Given the description of an element on the screen output the (x, y) to click on. 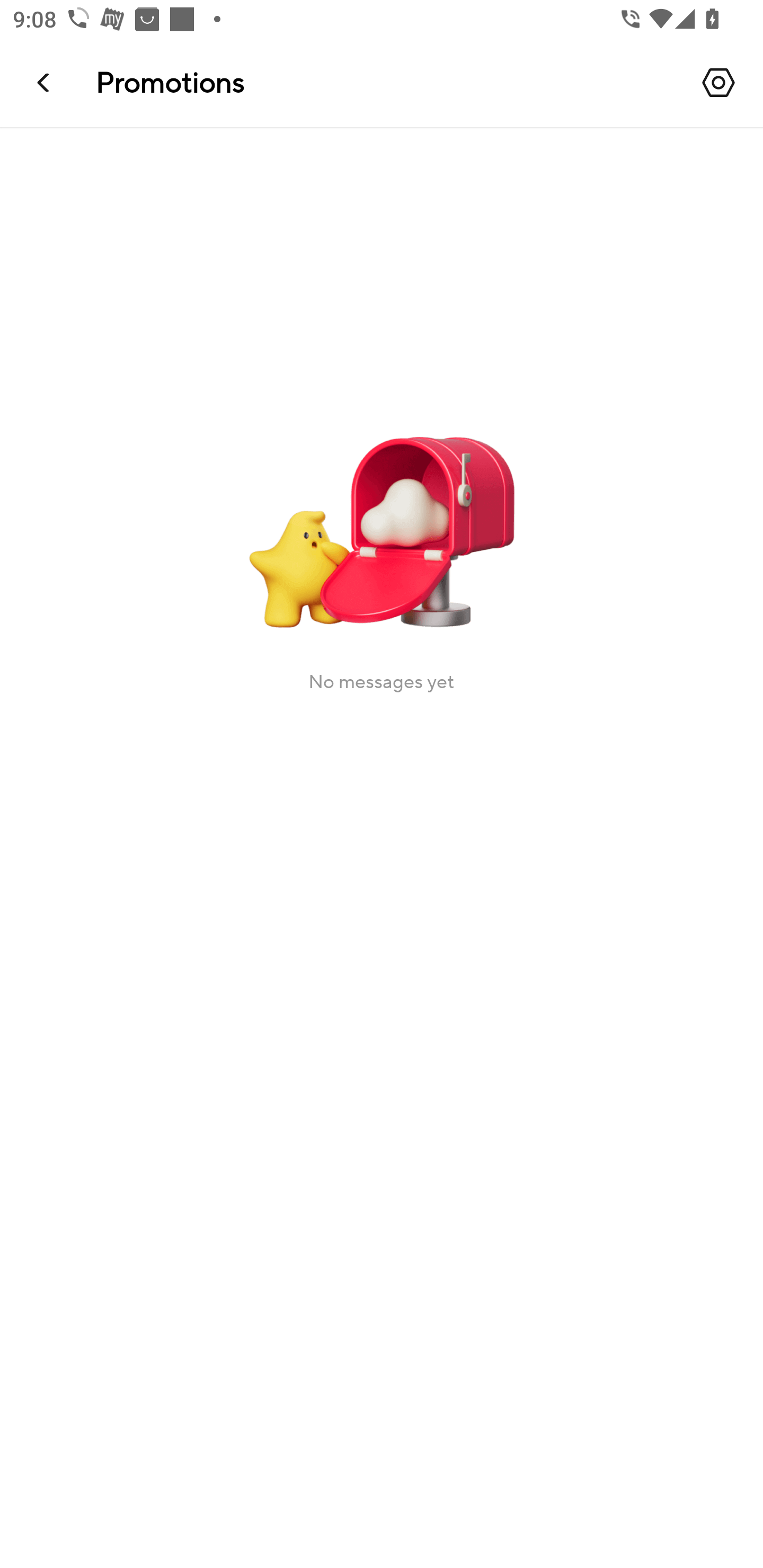
Navigate up (44, 82)
